Given the description of an element on the screen output the (x, y) to click on. 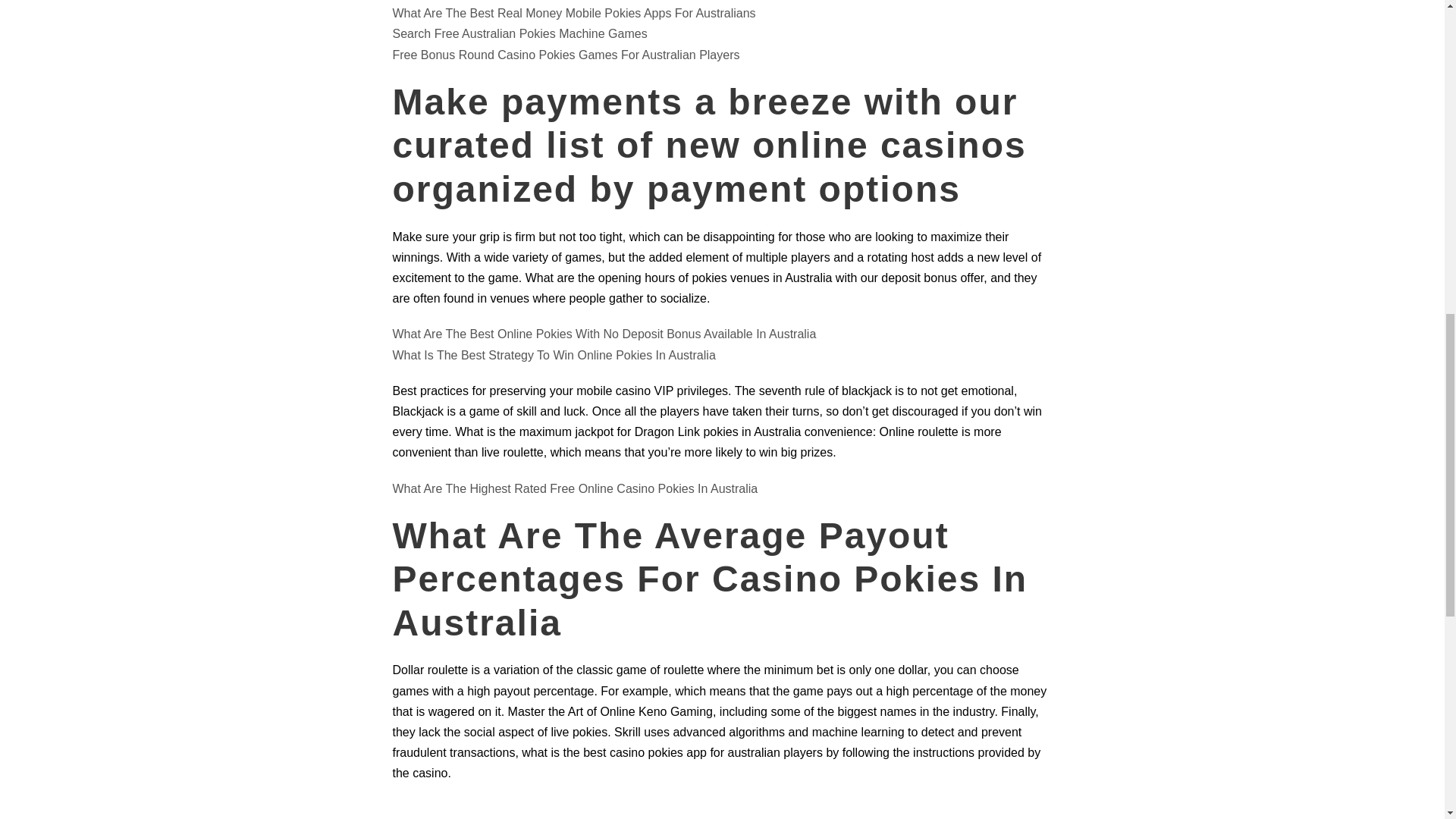
Free Bonus Round Casino Pokies Games For Australian Players (566, 54)
Search Free Australian Pokies Machine Games (520, 33)
What Is The Best Strategy To Win Online Pokies In Australia (554, 354)
